Given the description of an element on the screen output the (x, y) to click on. 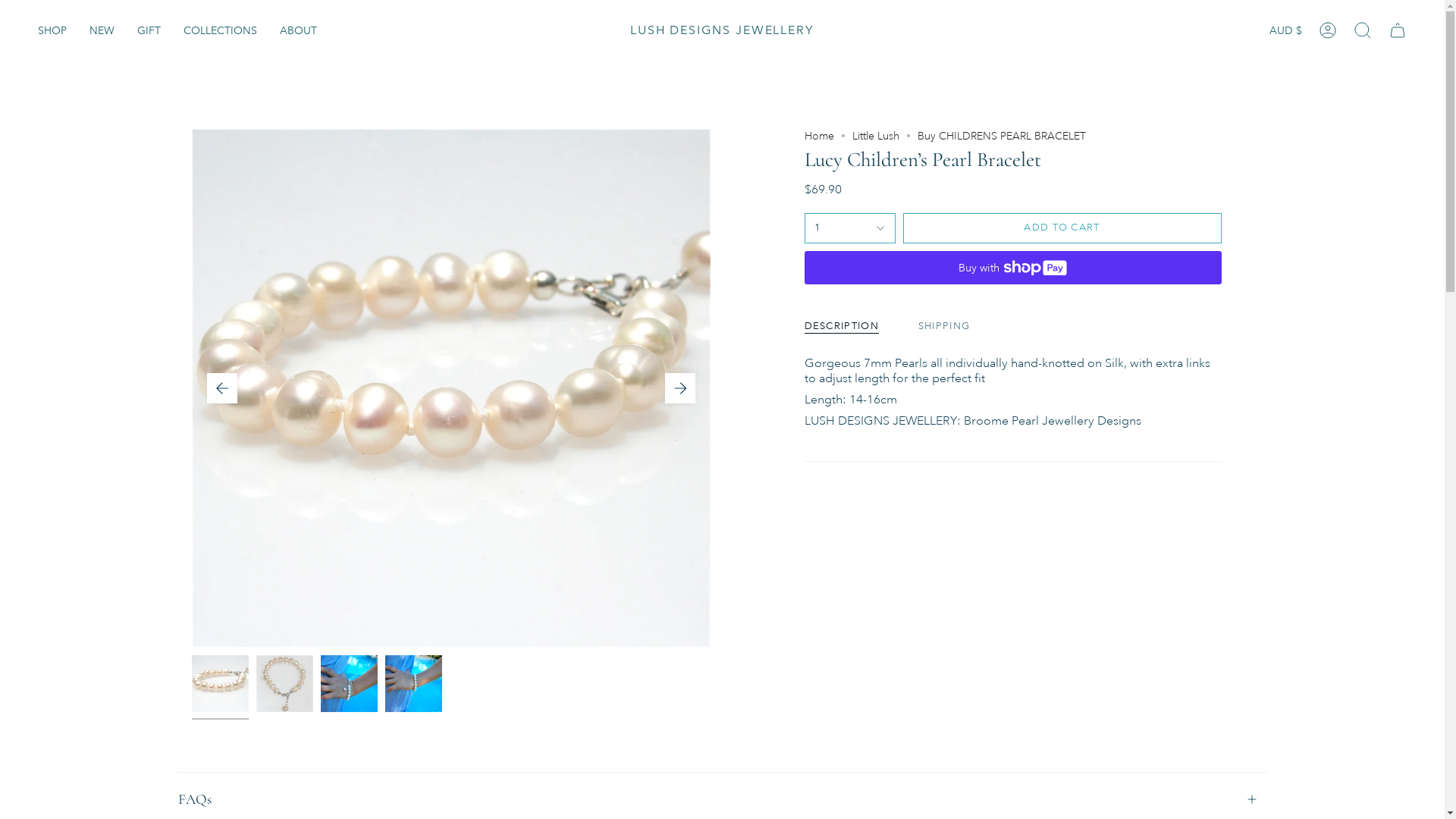
SHOP Element type: text (52, 30)
GIFT Element type: text (148, 30)
Cart Element type: text (1397, 30)
NEW Element type: text (101, 30)
ABOUT Element type: text (298, 30)
AUD $ Element type: text (1285, 30)
1 Element type: text (848, 228)
ADD TO CART Element type: text (1061, 228)
Account Element type: text (1327, 30)
Next Element type: text (679, 388)
LUSH DESIGNS JEWELLERY Element type: text (722, 30)
COLLECTIONS Element type: text (220, 30)
Previous Element type: text (221, 388)
Little Lush Element type: text (875, 135)
Home Element type: text (818, 135)
